Given the description of an element on the screen output the (x, y) to click on. 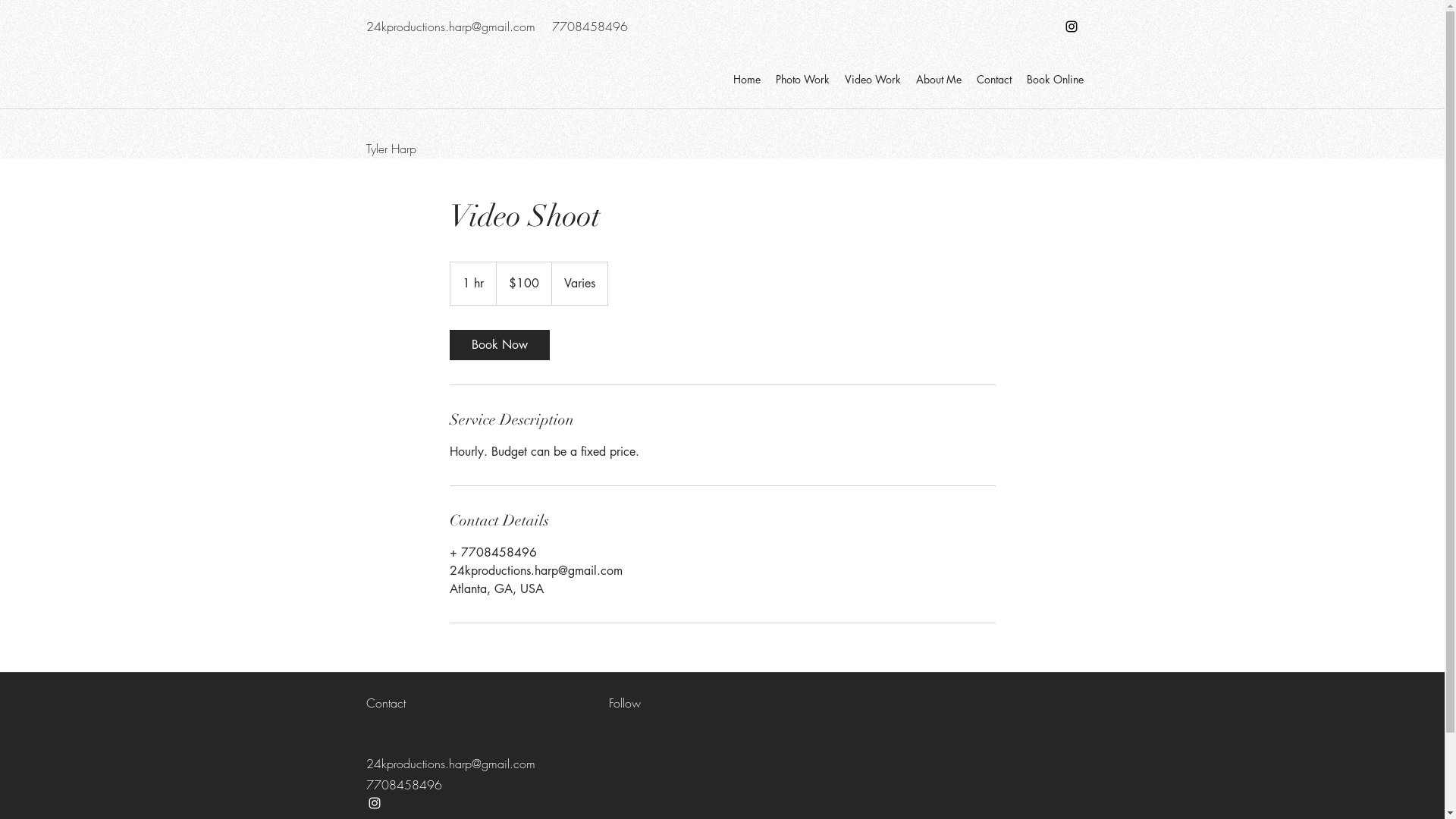
Video Work Element type: text (872, 79)
Home Element type: text (745, 79)
24kproductions.harp@gmail.com Element type: text (449, 763)
Photo Work Element type: text (801, 79)
24kproductions.harp@gmail.com Element type: text (449, 26)
Contact Element type: text (994, 79)
Book Online Element type: text (1055, 79)
Book Now Element type: text (498, 344)
About Me Element type: text (938, 79)
